Given the description of an element on the screen output the (x, y) to click on. 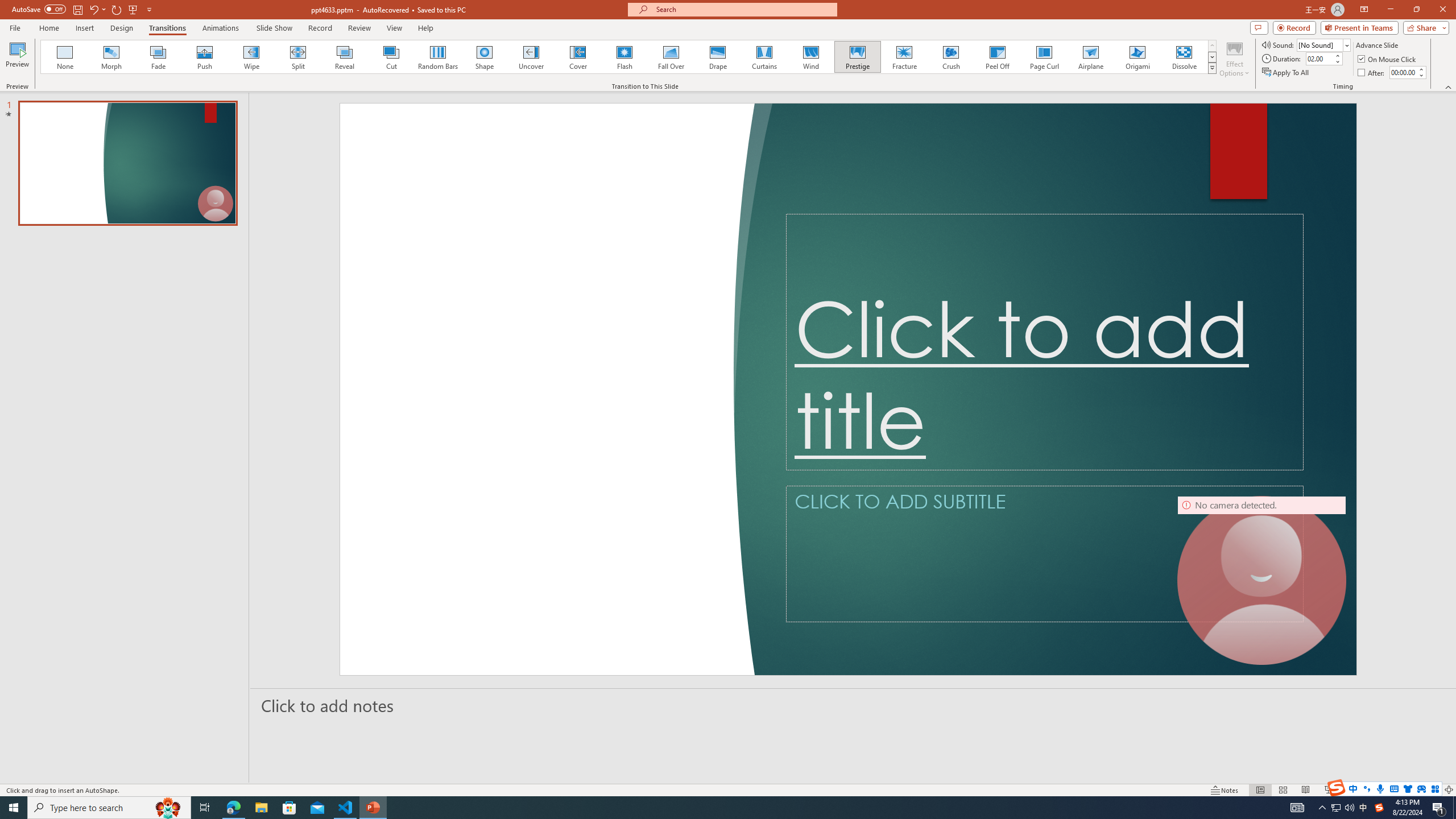
Cover (577, 56)
Flash (624, 56)
Prestige (857, 56)
After (1403, 72)
